Given the description of an element on the screen output the (x, y) to click on. 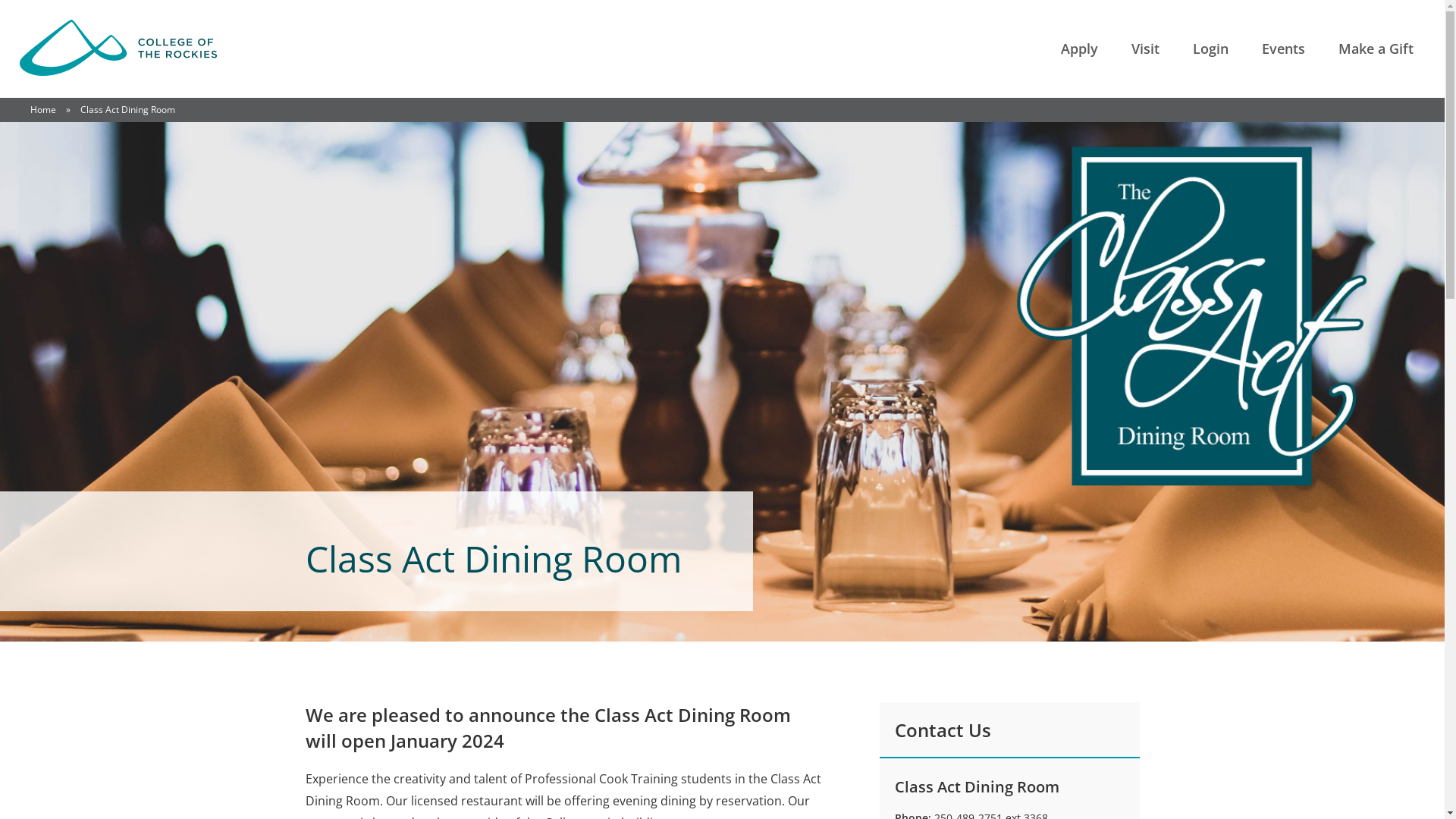
Login Element type: text (1210, 48)
Apply Element type: text (1079, 48)
Make a Gift Element type: text (1375, 48)
College of the Rockies Element type: text (117, 48)
Home Element type: text (43, 109)
Visit Element type: text (1145, 48)
Events Element type: text (1283, 48)
